Given the description of an element on the screen output the (x, y) to click on. 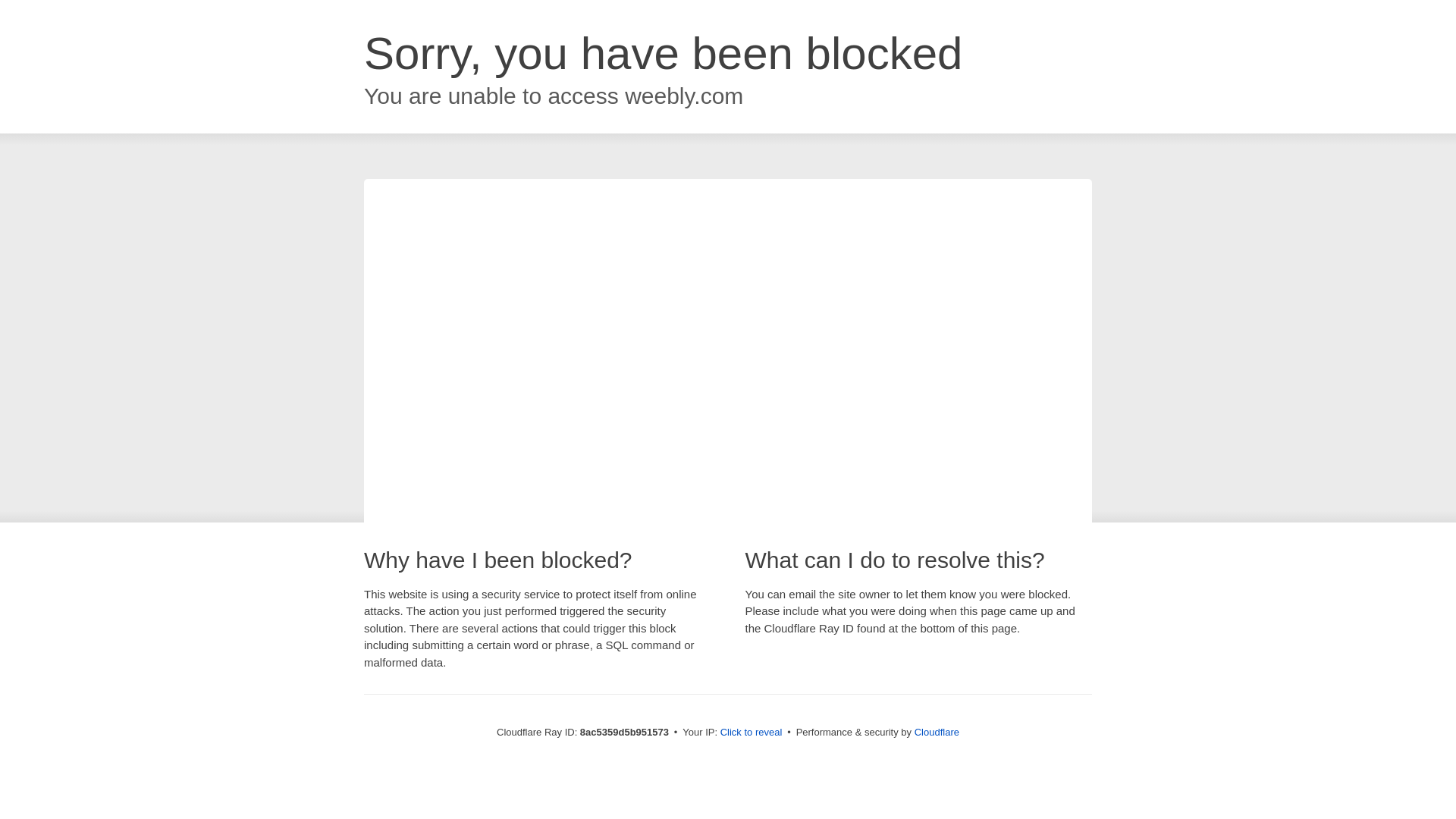
Cloudflare (936, 731)
Click to reveal (751, 732)
